Given the description of an element on the screen output the (x, y) to click on. 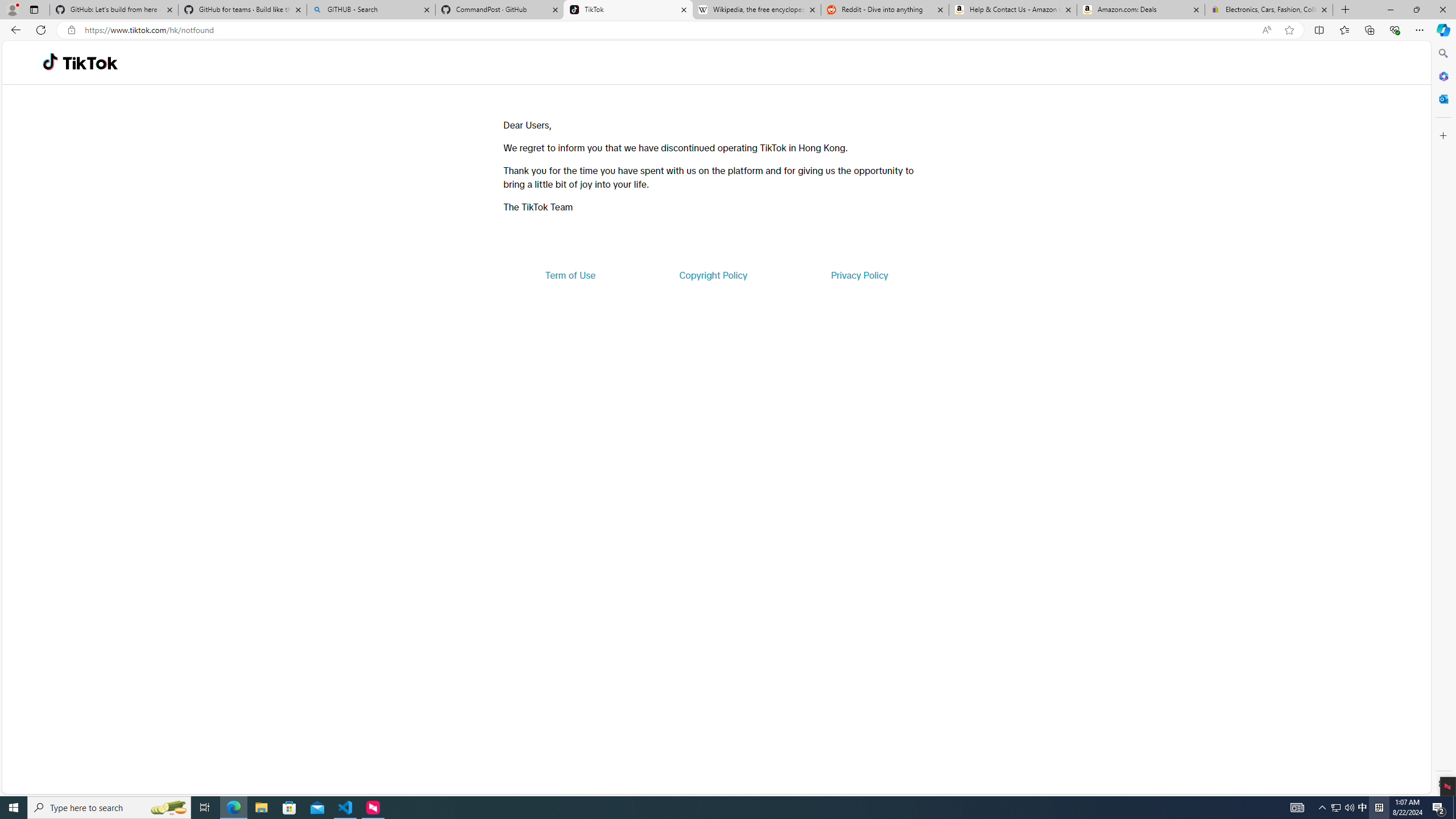
Settings (1442, 783)
Amazon.com: Deals (1140, 9)
TikTok (628, 9)
Electronics, Cars, Fashion, Collectibles & More | eBay (1268, 9)
GITHUB - Search (370, 9)
Search (1442, 53)
Microsoft 365 (1442, 76)
App bar (728, 29)
Wikipedia, the free encyclopedia (756, 9)
Copyright Policy (712, 274)
Term of Use (569, 274)
